Given the description of an element on the screen output the (x, y) to click on. 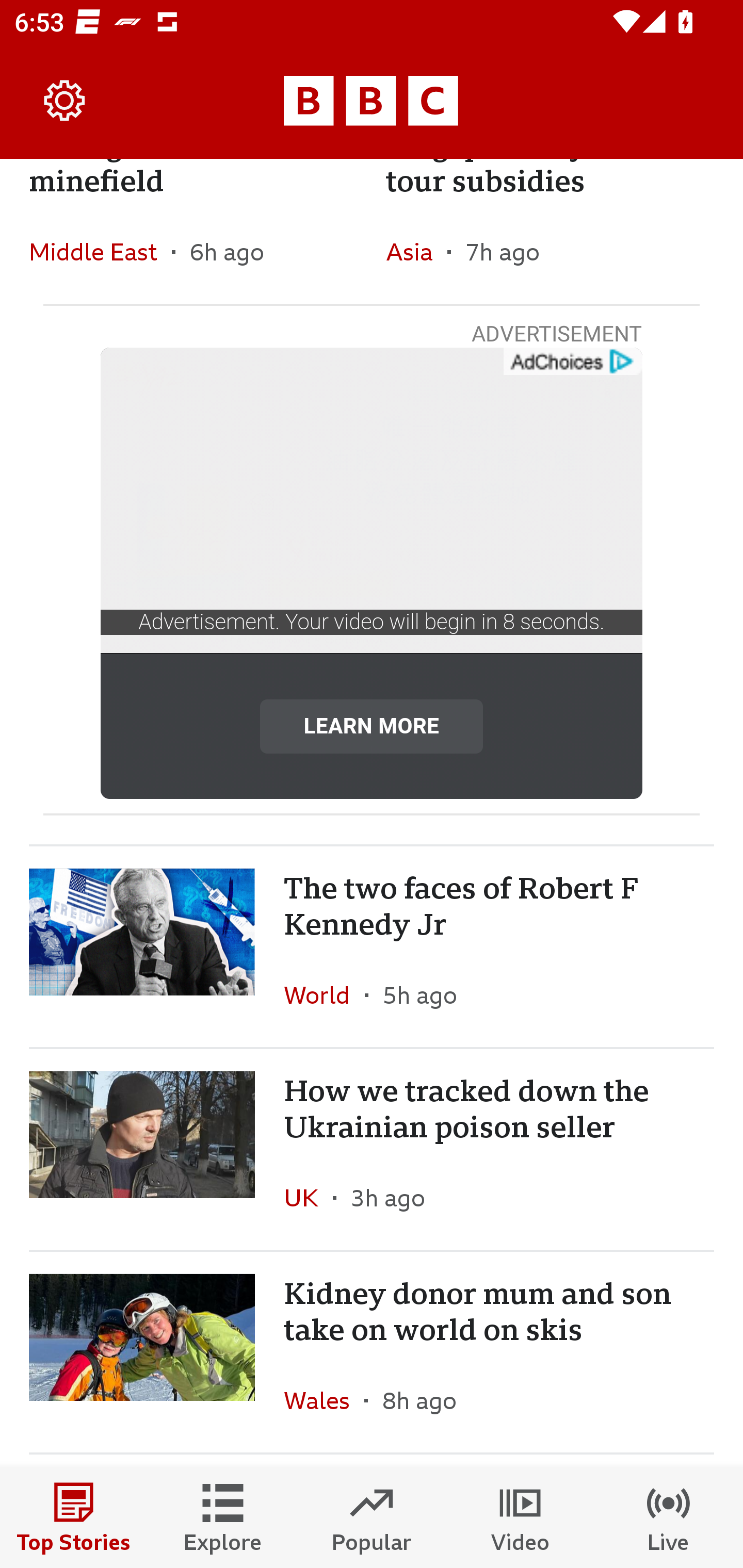
Settings (64, 100)
Middle East In the section Middle East (99, 251)
Asia In the section Asia (416, 251)
get?name=admarker-full-tl (571, 362)
LEARN MORE (371, 725)
World In the section World (323, 994)
UK In the section UK (307, 1197)
Wales In the section Wales (323, 1399)
Explore (222, 1517)
Popular (371, 1517)
Video (519, 1517)
Live (668, 1517)
